Given the description of an element on the screen output the (x, y) to click on. 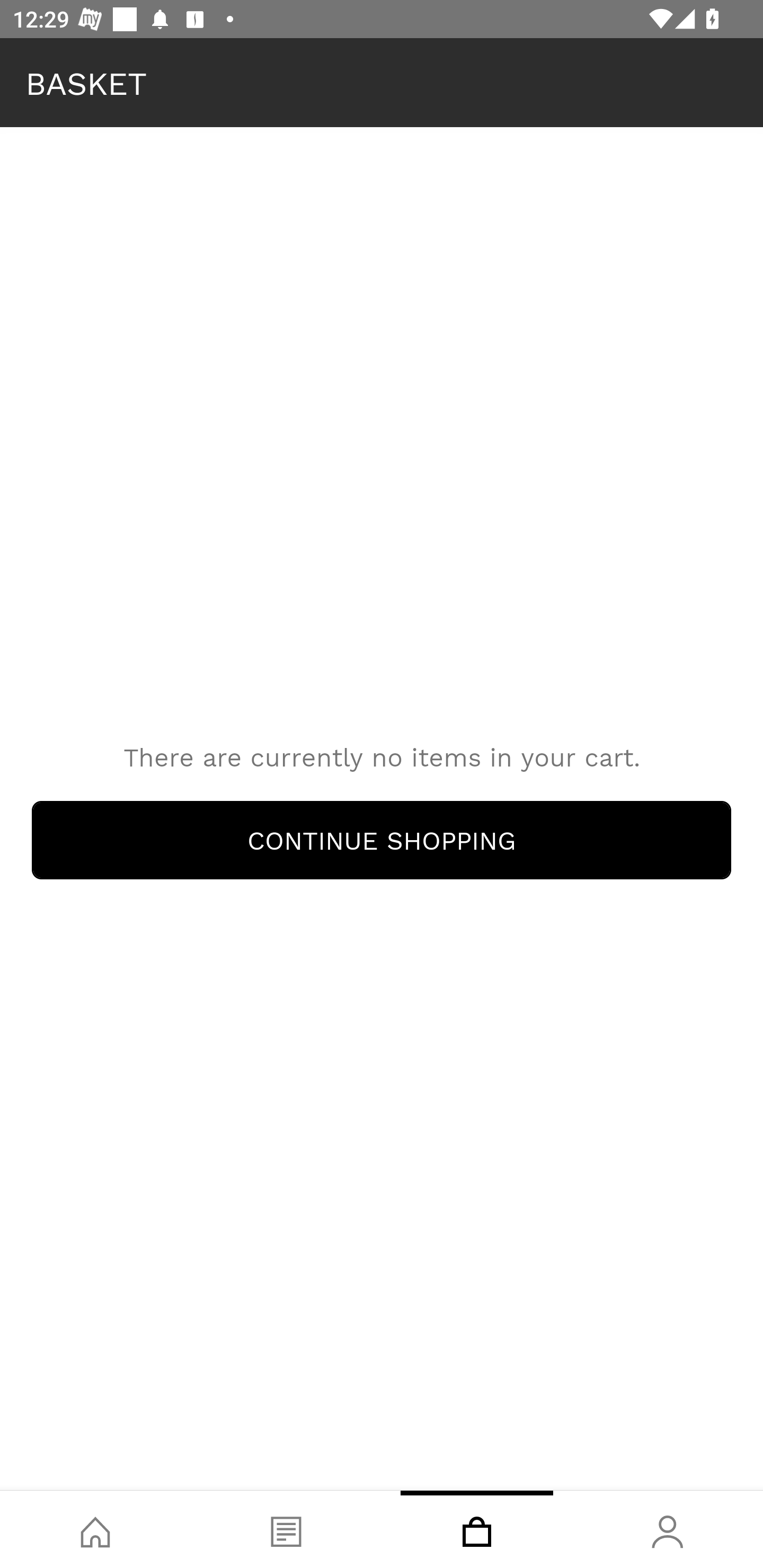
Continue Shopping CONTINUE SHOPPING (381, 840)
Shop, tab, 1 of 4 (95, 1529)
Blog, tab, 2 of 4 (285, 1529)
Basket, tab, 3 of 4 (476, 1529)
Account, tab, 4 of 4 (667, 1529)
